Given the description of an element on the screen output the (x, y) to click on. 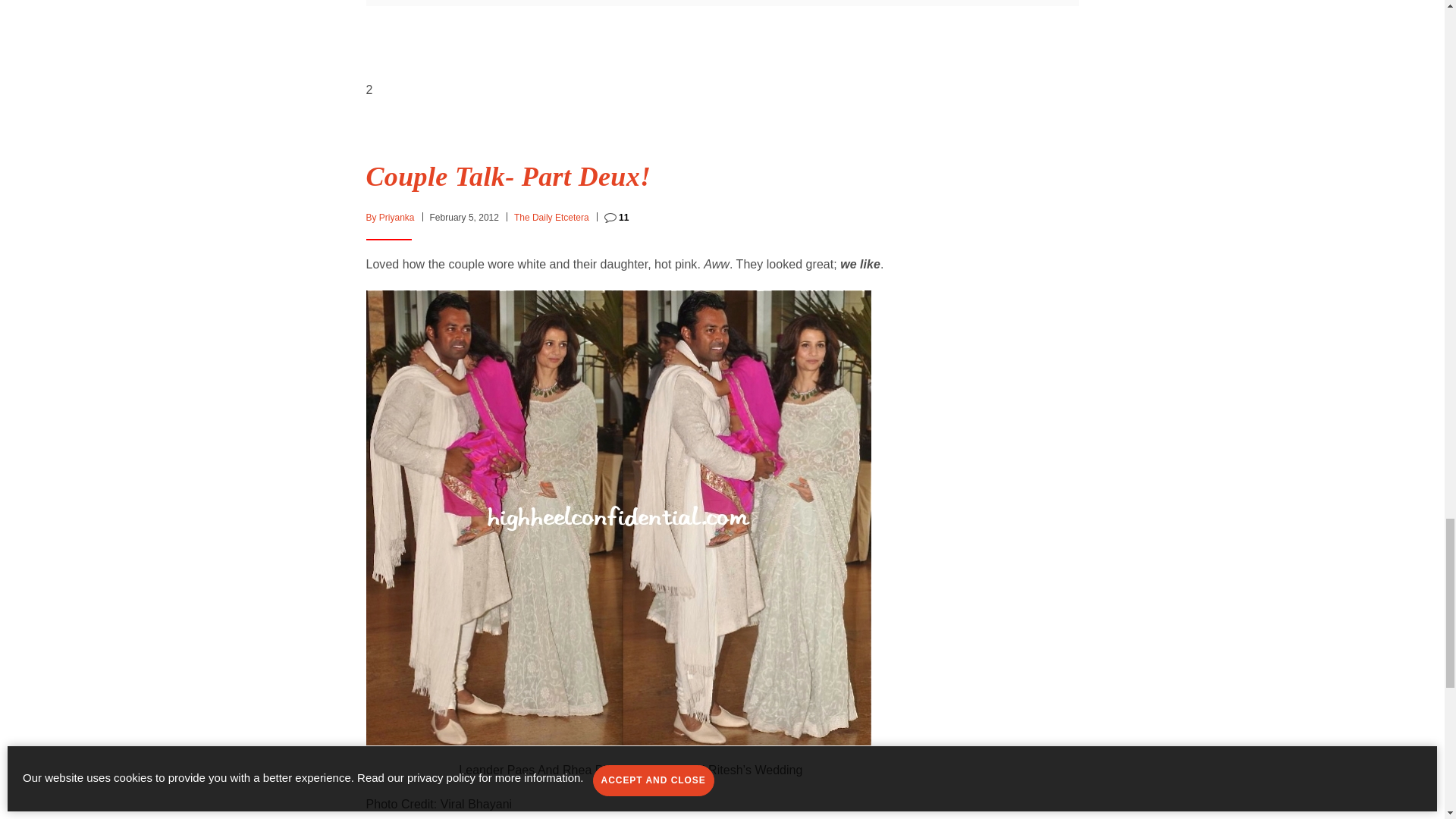
Couple Talk- Part Deux! (507, 176)
11 (616, 217)
The Daily Etcetera (551, 217)
By Priyanka (389, 217)
